Given the description of an element on the screen output the (x, y) to click on. 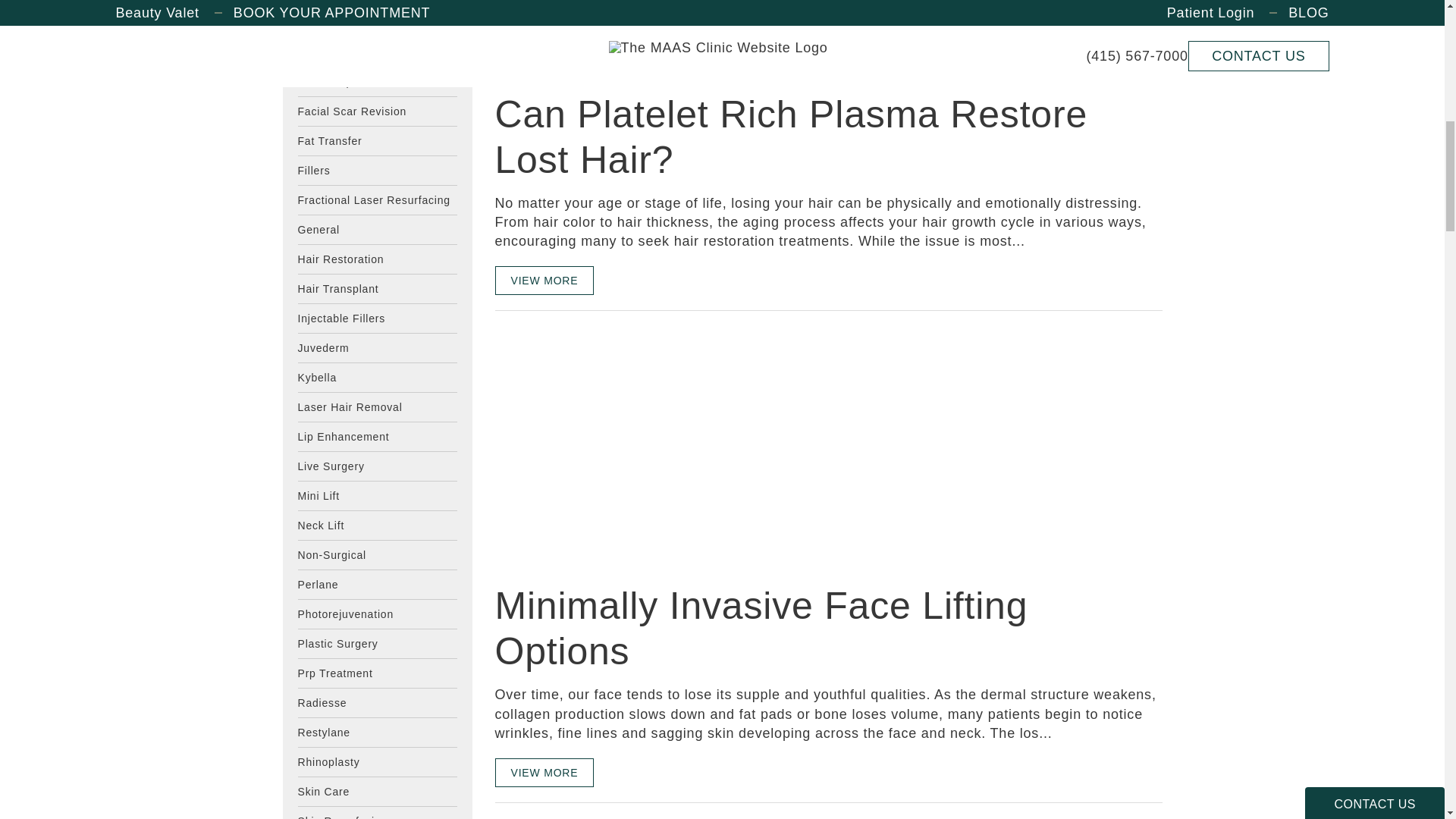
View blog article (608, 69)
View full blog article (544, 772)
View blog article (608, 446)
View full blog article (544, 18)
View full blog article (544, 280)
